Given the description of an element on the screen output the (x, y) to click on. 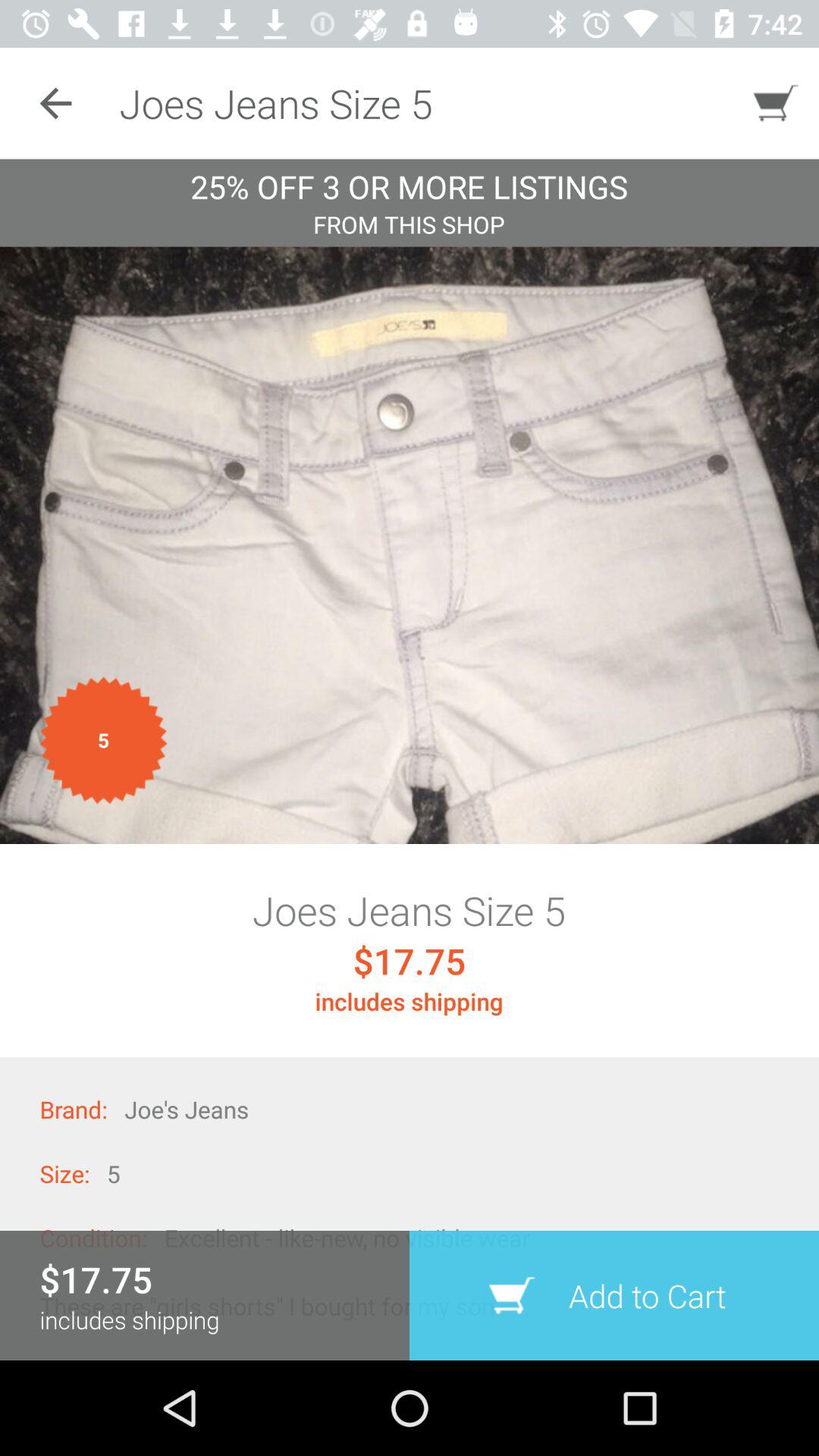
turn off the item at the top left corner (55, 103)
